Given the description of an element on the screen output the (x, y) to click on. 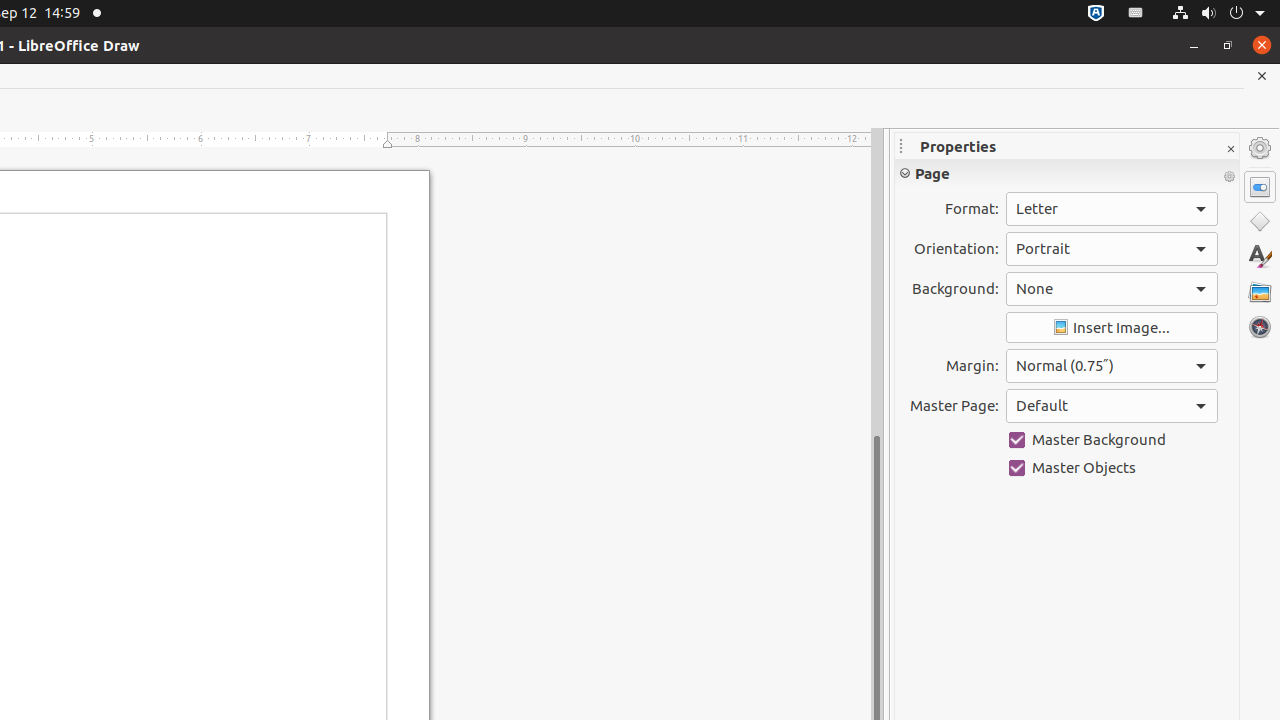
Master Background Element type: check-box (1112, 440)
More Options Element type: push-button (1229, 177)
Navigator Element type: radio-button (1260, 327)
Close Sidebar Deck Element type: push-button (1230, 149)
Format: Element type: combo-box (1112, 209)
